Given the description of an element on the screen output the (x, y) to click on. 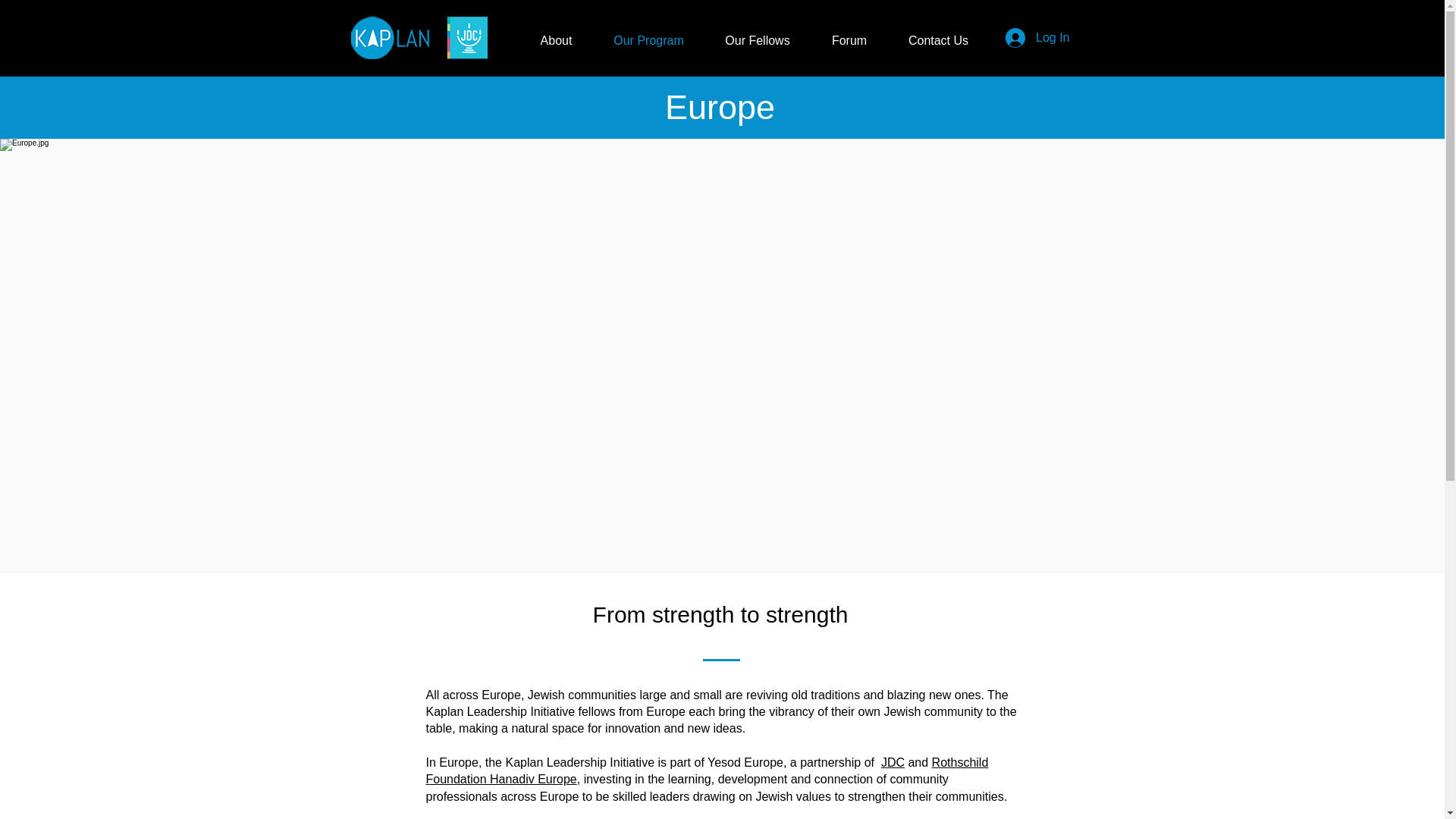
JDC (892, 762)
Contact Us (937, 40)
Our Fellows (756, 40)
Forum (849, 40)
Rothschild Foundation Hanadiv Europe (707, 770)
Our Program (647, 40)
Log In (1037, 37)
About (555, 40)
